Given the description of an element on the screen output the (x, y) to click on. 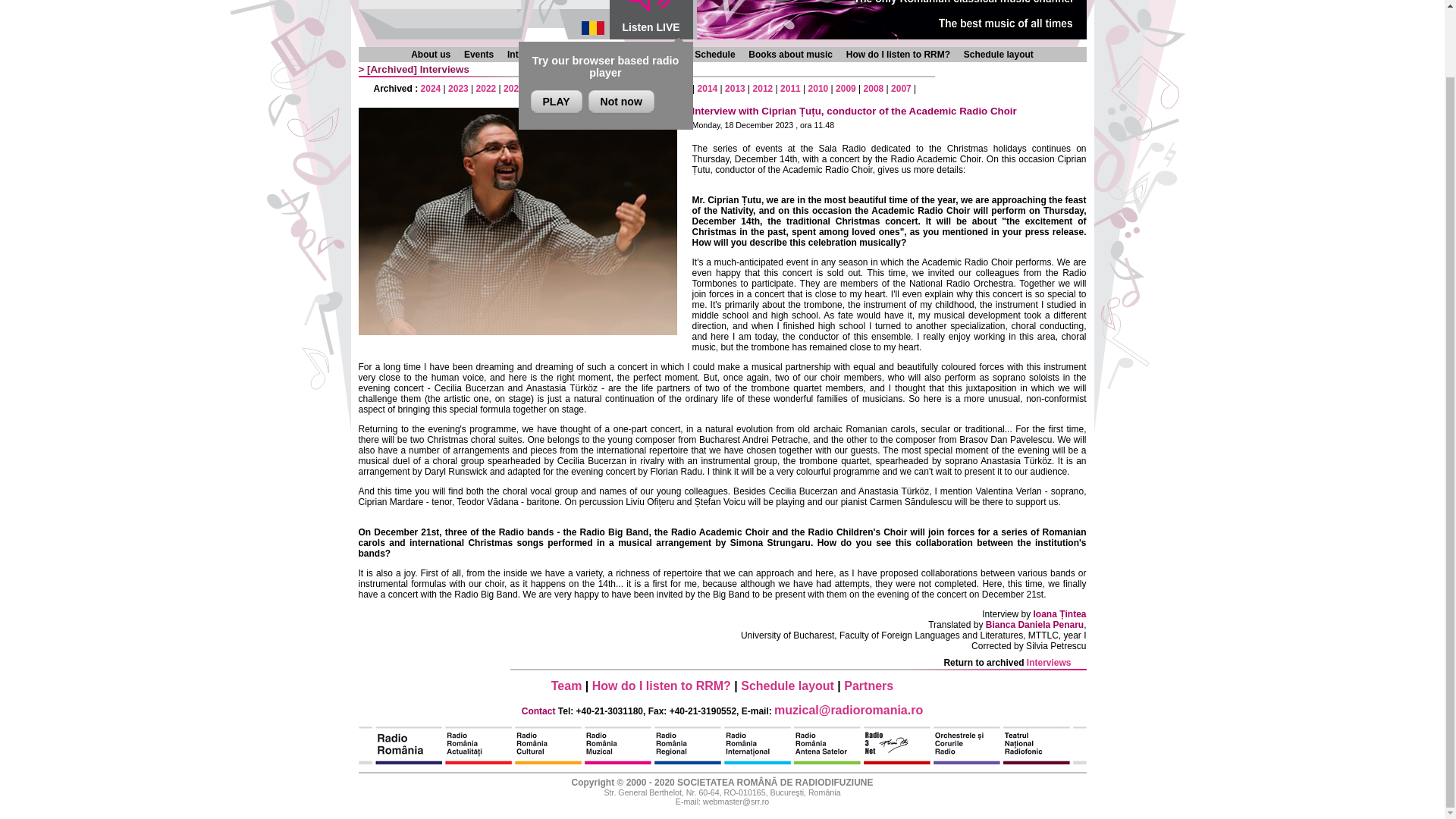
Interviews (1048, 662)
2012 (762, 88)
2023 (458, 88)
Schedule layout (998, 54)
2021 (513, 88)
2024 (430, 88)
2015 (679, 88)
2008 (873, 88)
Not now (620, 101)
banner central 2014-10-31 (890, 19)
2019 (569, 88)
2016 (652, 88)
2014 (707, 88)
Team (566, 685)
How do I listen to RRM? (897, 54)
